Given the description of an element on the screen output the (x, y) to click on. 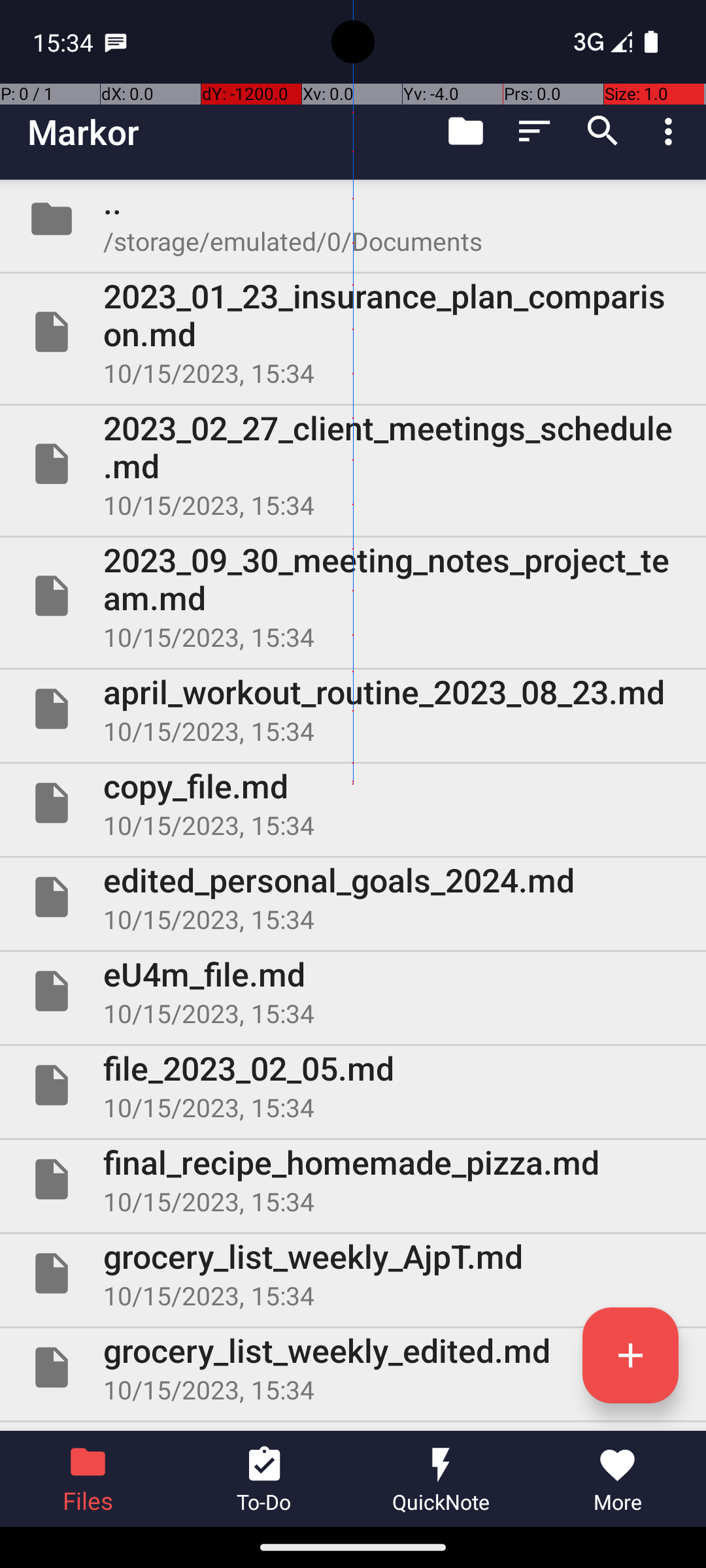
File 2023_01_23_insurance_plan_comparison.md  Element type: android.widget.LinearLayout (353, 331)
File 2023_02_27_client_meetings_schedule.md  Element type: android.widget.LinearLayout (353, 463)
File 2023_09_30_meeting_notes_project_team.md  Element type: android.widget.LinearLayout (353, 595)
File april_workout_routine_2023_08_23.md  Element type: android.widget.LinearLayout (353, 708)
File copy_file.md  Element type: android.widget.LinearLayout (353, 802)
File edited_personal_goals_2024.md  Element type: android.widget.LinearLayout (353, 896)
File eU4m_file.md  Element type: android.widget.LinearLayout (353, 990)
File file_2023_02_05.md  Element type: android.widget.LinearLayout (353, 1084)
File final_recipe_homemade_pizza.md  Element type: android.widget.LinearLayout (353, 1179)
File grocery_list_weekly_AjpT.md  Element type: android.widget.LinearLayout (353, 1273)
File grocery_list_weekly_edited.md  Element type: android.widget.LinearLayout (353, 1367)
File personal_goals_2024_backup.md  Element type: android.widget.LinearLayout (353, 1426)
SMS Messenger notification: Martin Chen Element type: android.widget.ImageView (115, 41)
